Given the description of an element on the screen output the (x, y) to click on. 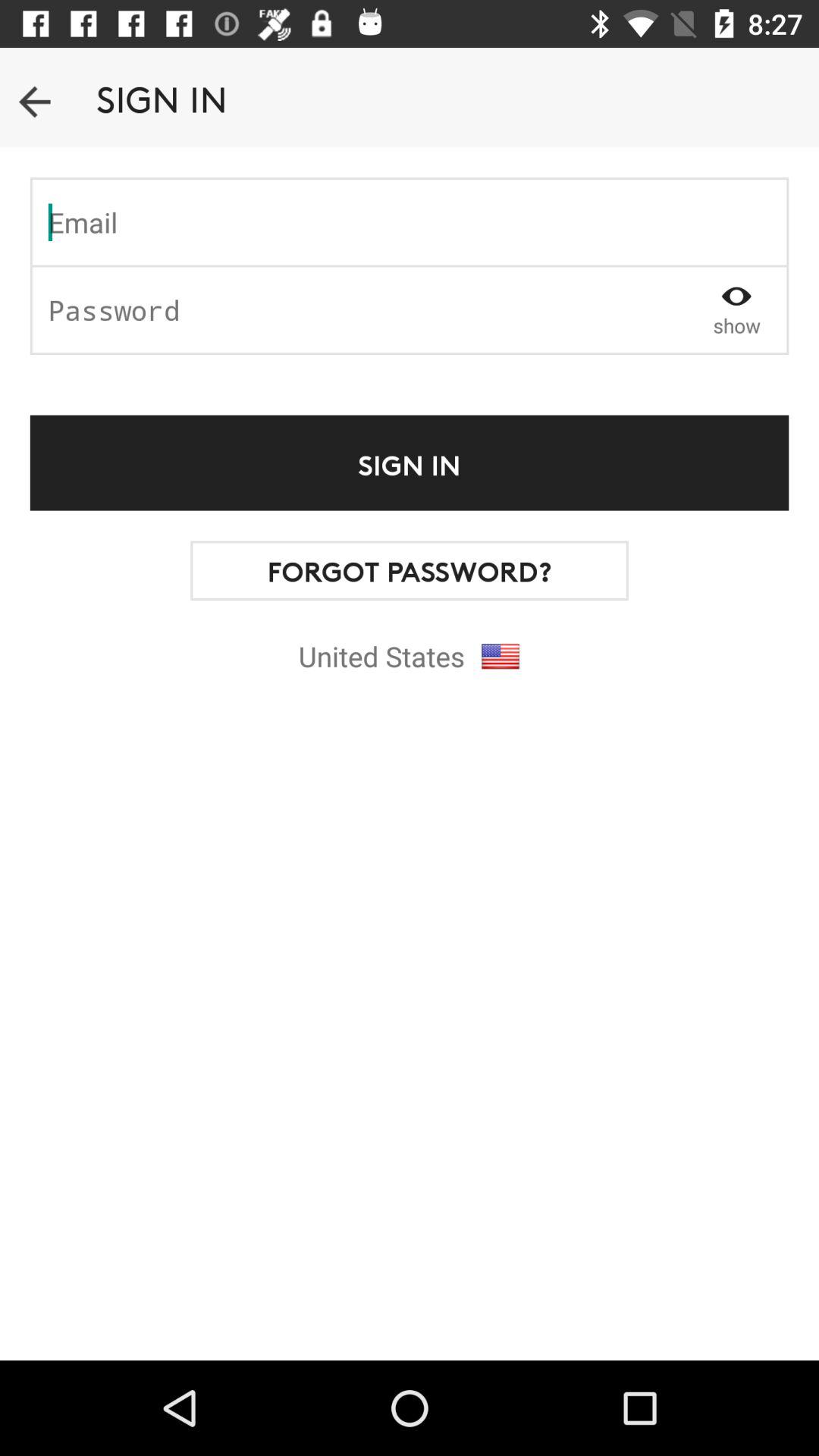
click on password (359, 309)
click on the text above forgot passwords (409, 462)
click on the email filling option below left arrow (409, 221)
click on the text right to password filling option (736, 310)
